Given the description of an element on the screen output the (x, y) to click on. 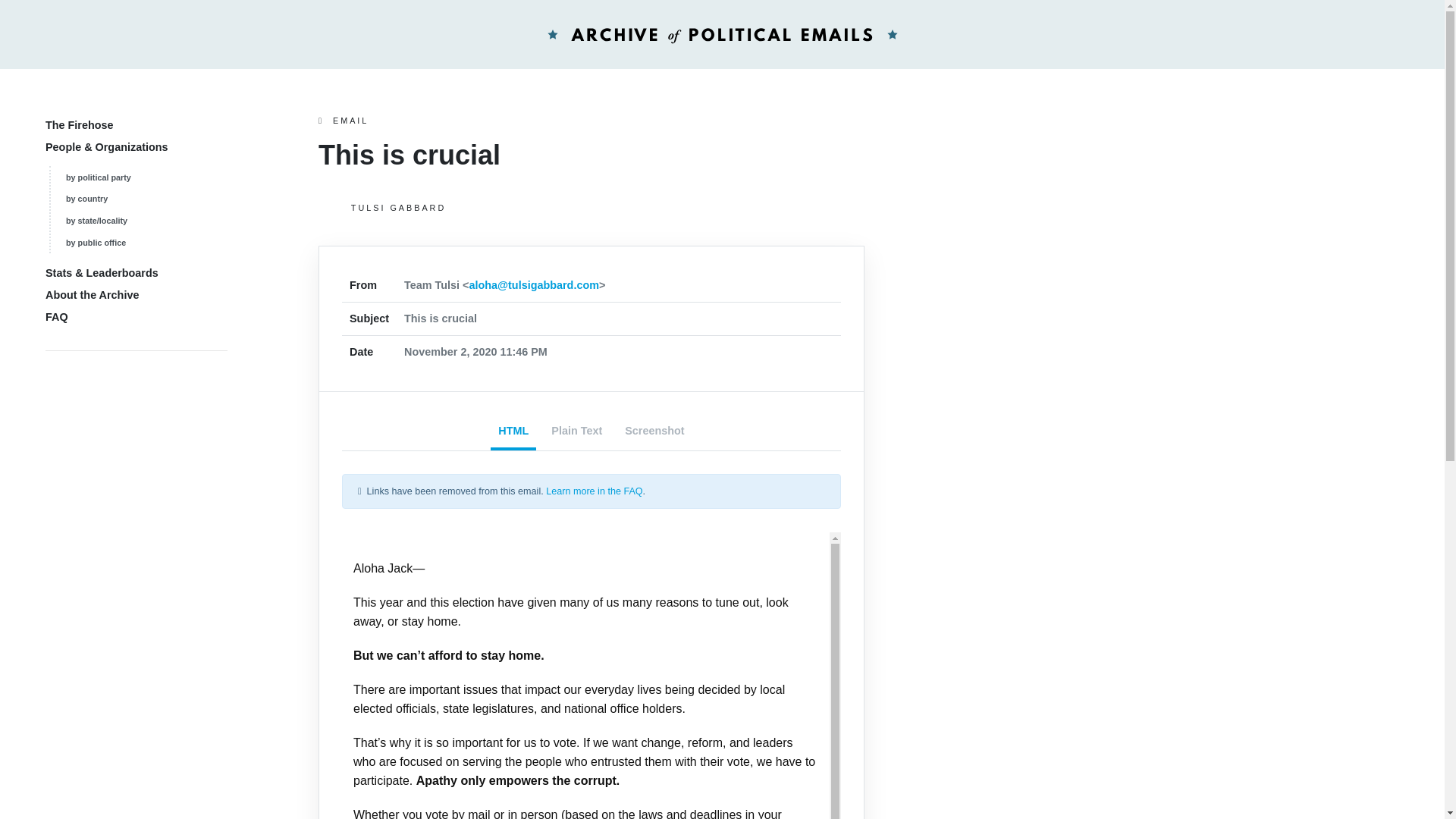
TULSI GABBARD (591, 207)
About the Archive (91, 295)
FAQ (56, 316)
by country (86, 198)
Plain Text (576, 432)
by political party (98, 176)
HTML (512, 432)
Learn more in the FAQ (594, 491)
Screenshot (654, 432)
The Firehose (79, 124)
by public office (95, 242)
